Given the description of an element on the screen output the (x, y) to click on. 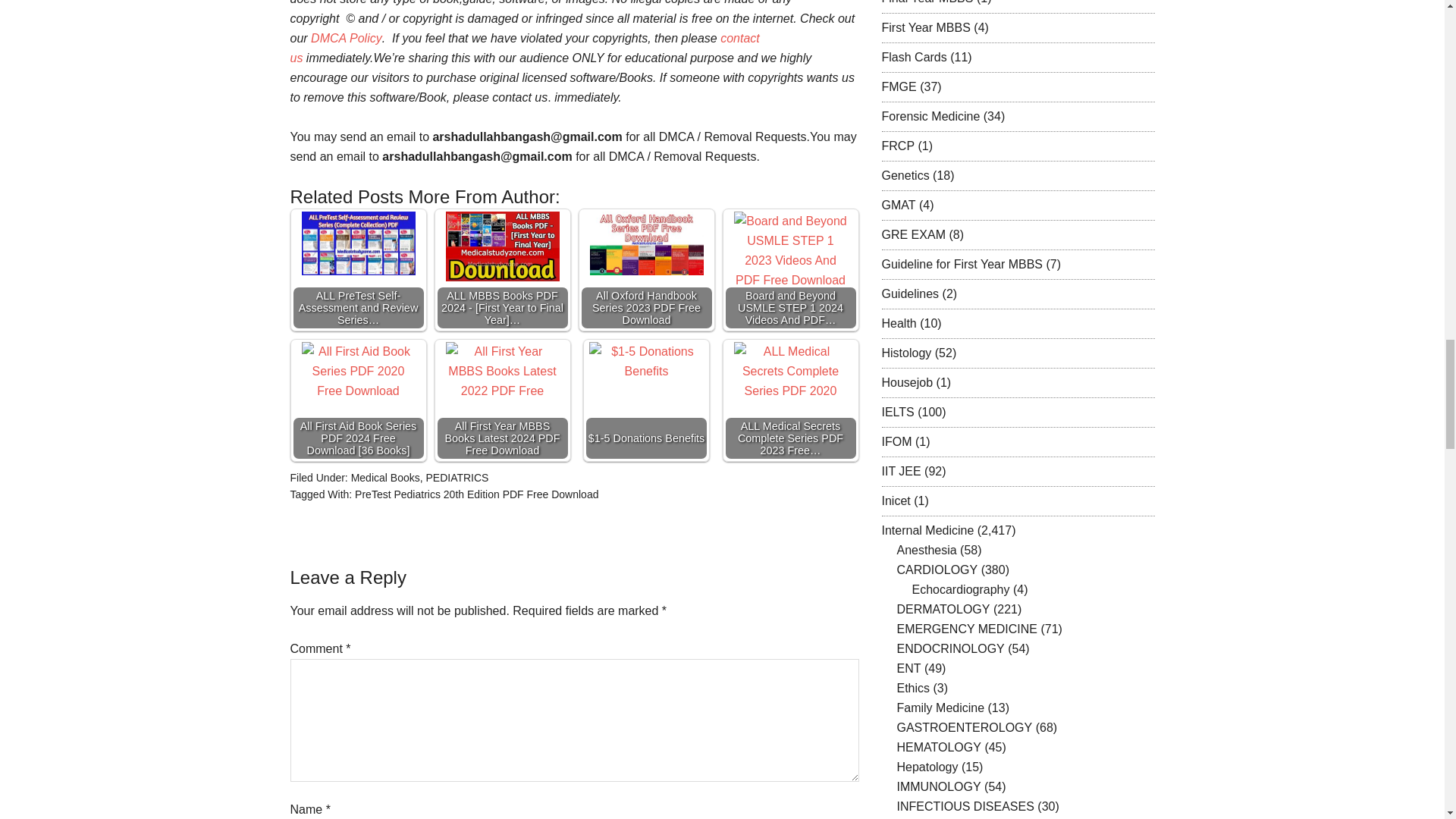
All First Year MBBS Books Latest 2024 PDF Free Download (502, 373)
All Oxford Handbook Series 2023 PDF Free Download (646, 243)
